Given the description of an element on the screen output the (x, y) to click on. 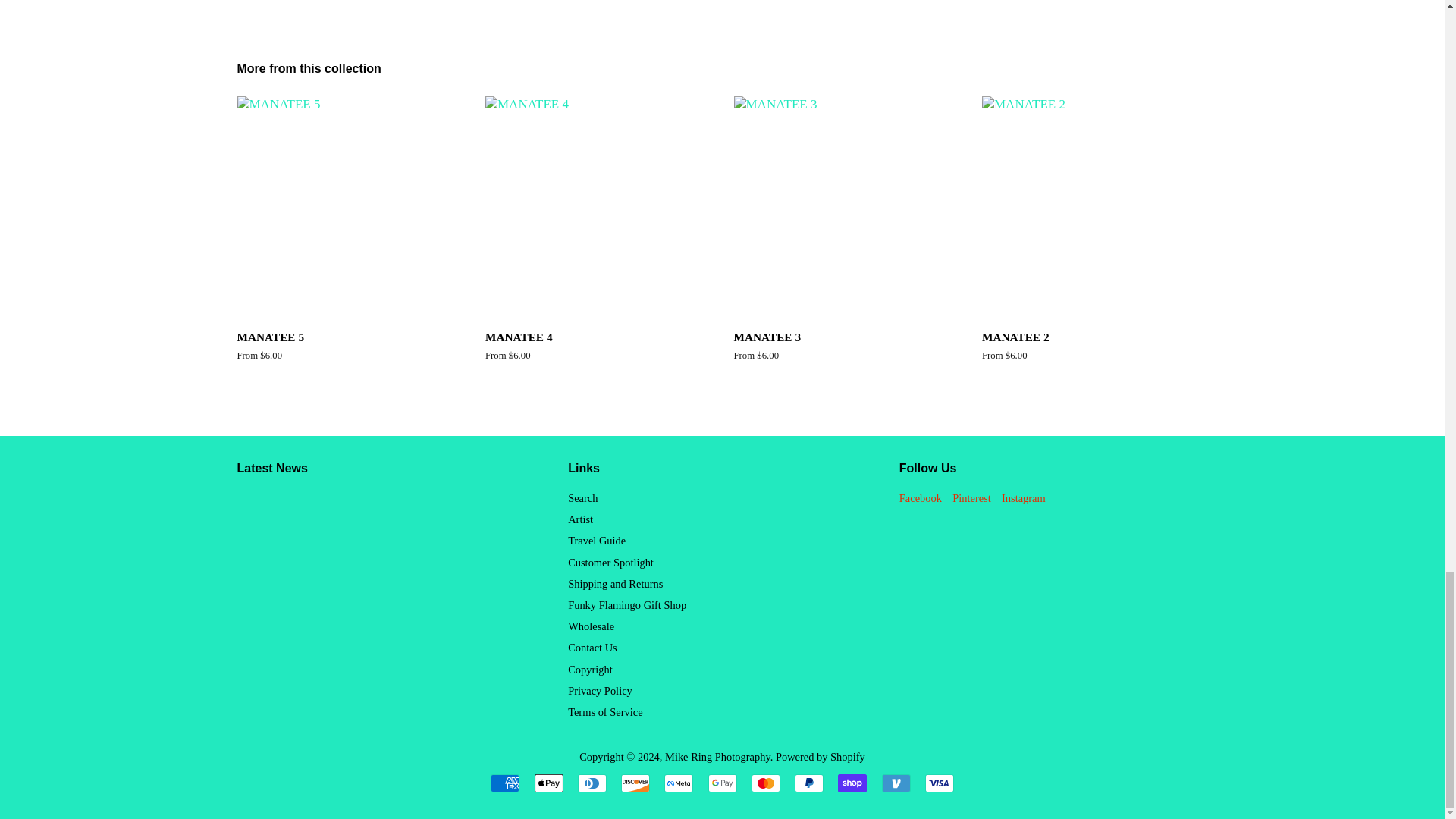
Shop Pay (852, 782)
Mike Ring Photography on Facebook (920, 498)
Meta Pay (678, 782)
Visa (938, 782)
Mike Ring Photography on Instagram (1023, 498)
Discover (635, 782)
Mastercard (765, 782)
Diners Club (592, 782)
Venmo (895, 782)
Mike Ring Photography on Pinterest (971, 498)
Apple Pay (548, 782)
American Express (504, 782)
Google Pay (721, 782)
PayPal (809, 782)
